Given the description of an element on the screen output the (x, y) to click on. 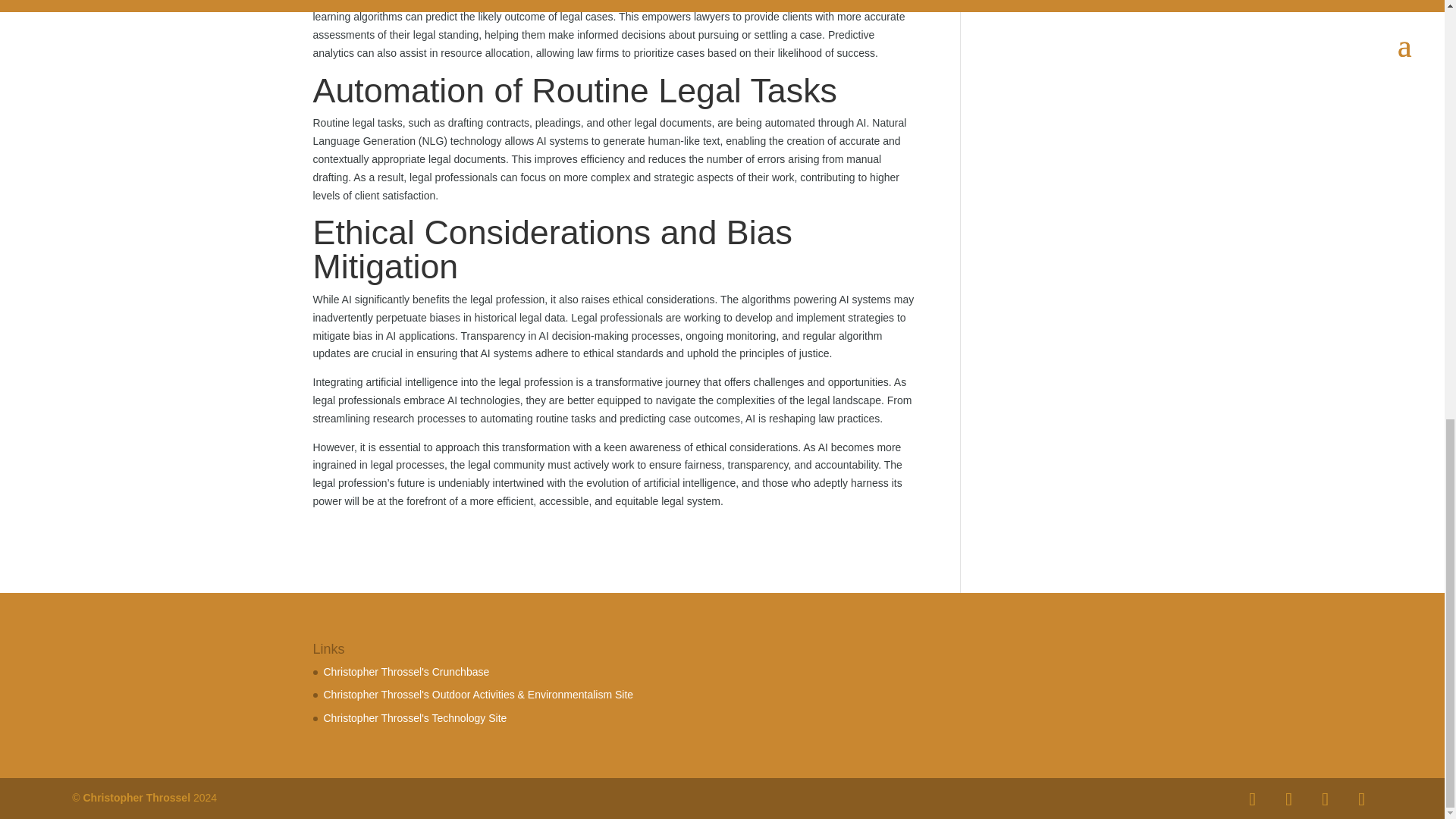
Christopher Throssel's Crunchbase (406, 671)
Christopher Throssel's Technology Site (414, 717)
Christopher Throssel (136, 797)
